Given the description of an element on the screen output the (x, y) to click on. 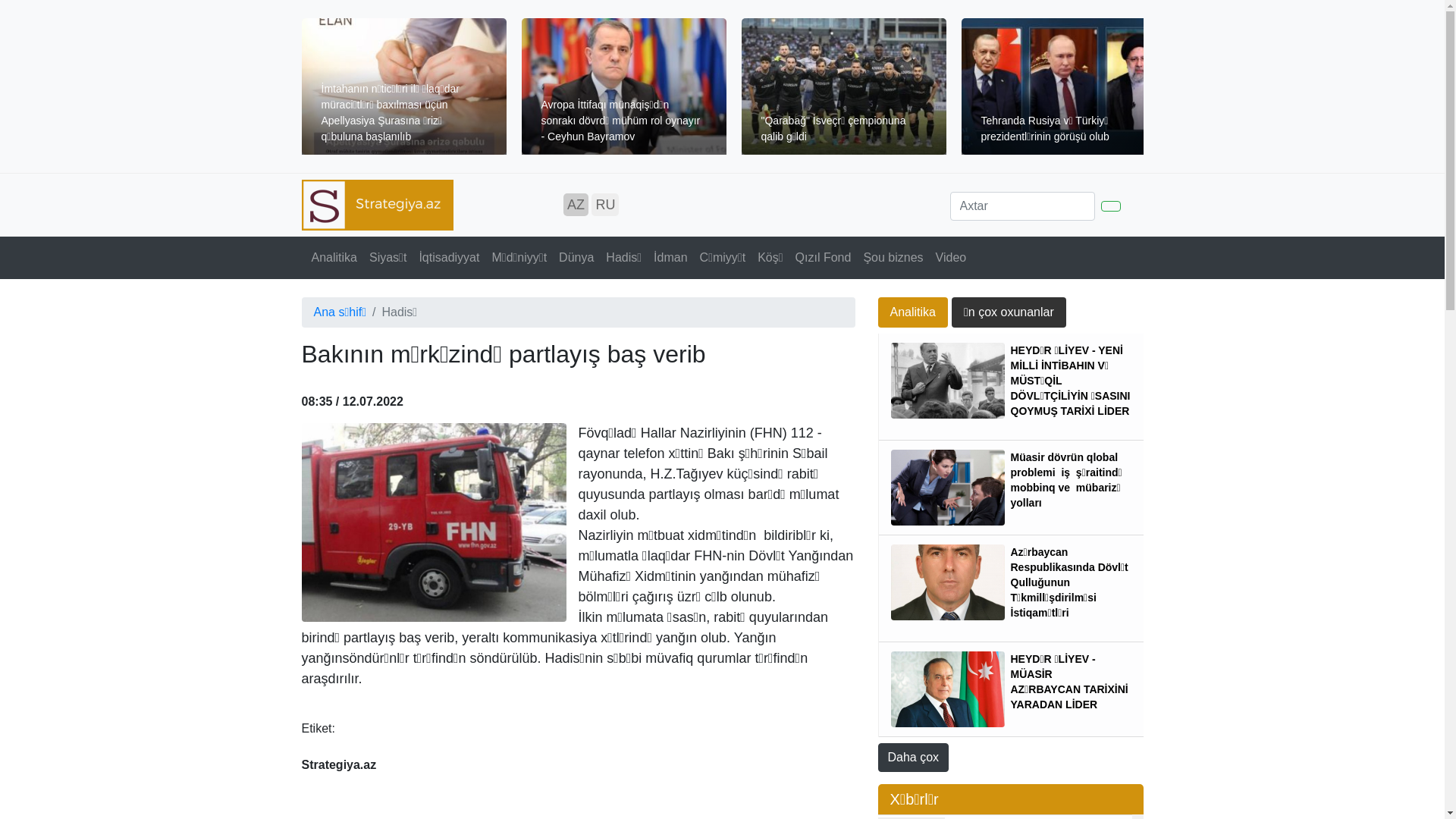
AZ Element type: text (575, 204)
RU Element type: text (604, 204)
Video Element type: text (950, 257)
Analitika Element type: text (912, 312)
(current) Element type: text (298, 248)
Analitika Element type: text (333, 257)
